Given the description of an element on the screen output the (x, y) to click on. 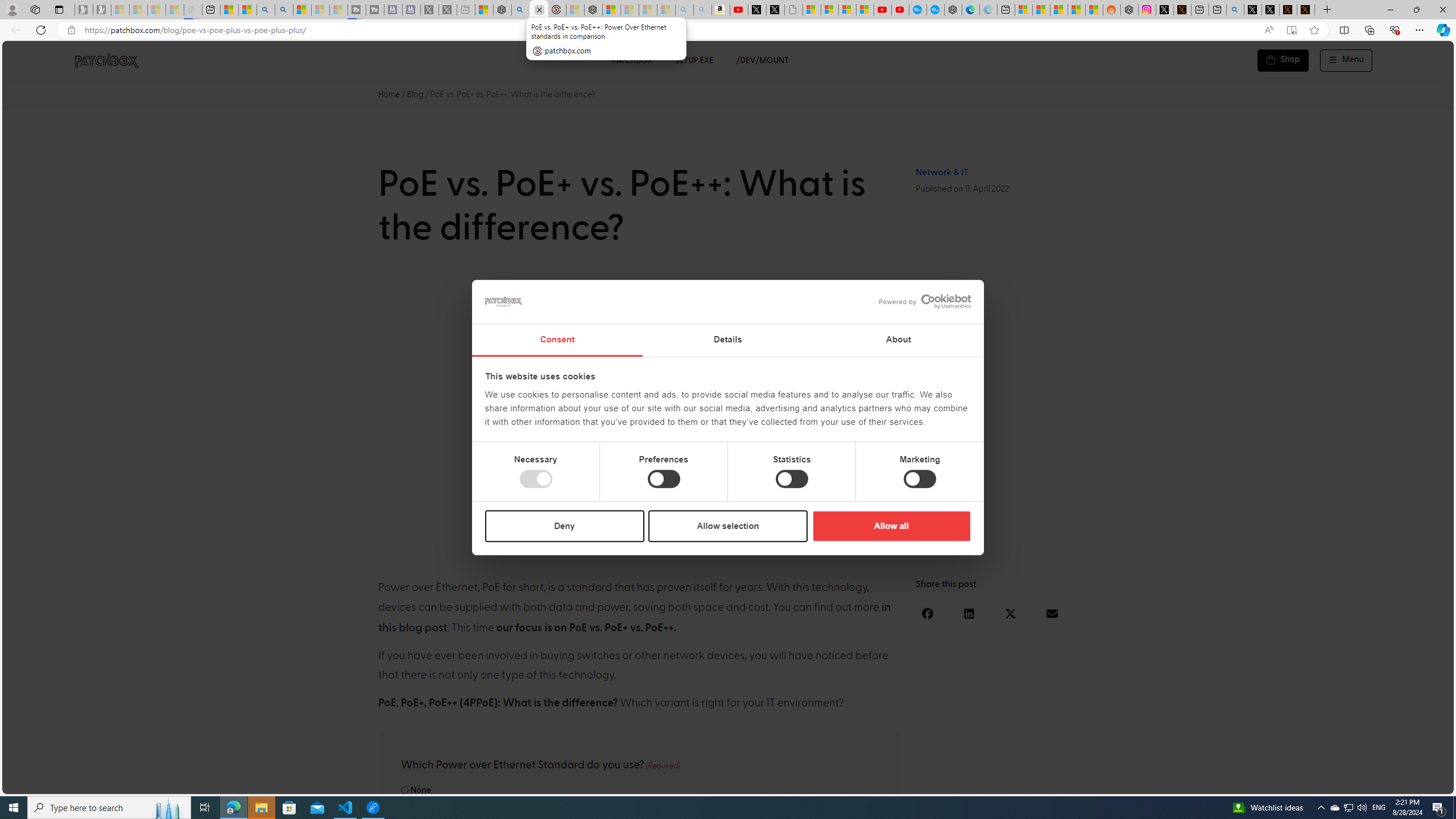
PATCHBOX - Simplify IT (106, 60)
GitHub (@github) / X (1270, 9)
Menu Off-Canvas (1346, 60)
in this blog post (634, 617)
Log in to X / X (1164, 9)
/DEV/MOUNT (762, 60)
Language switcher : Klingon (1425, 782)
